Given the description of an element on the screen output the (x, y) to click on. 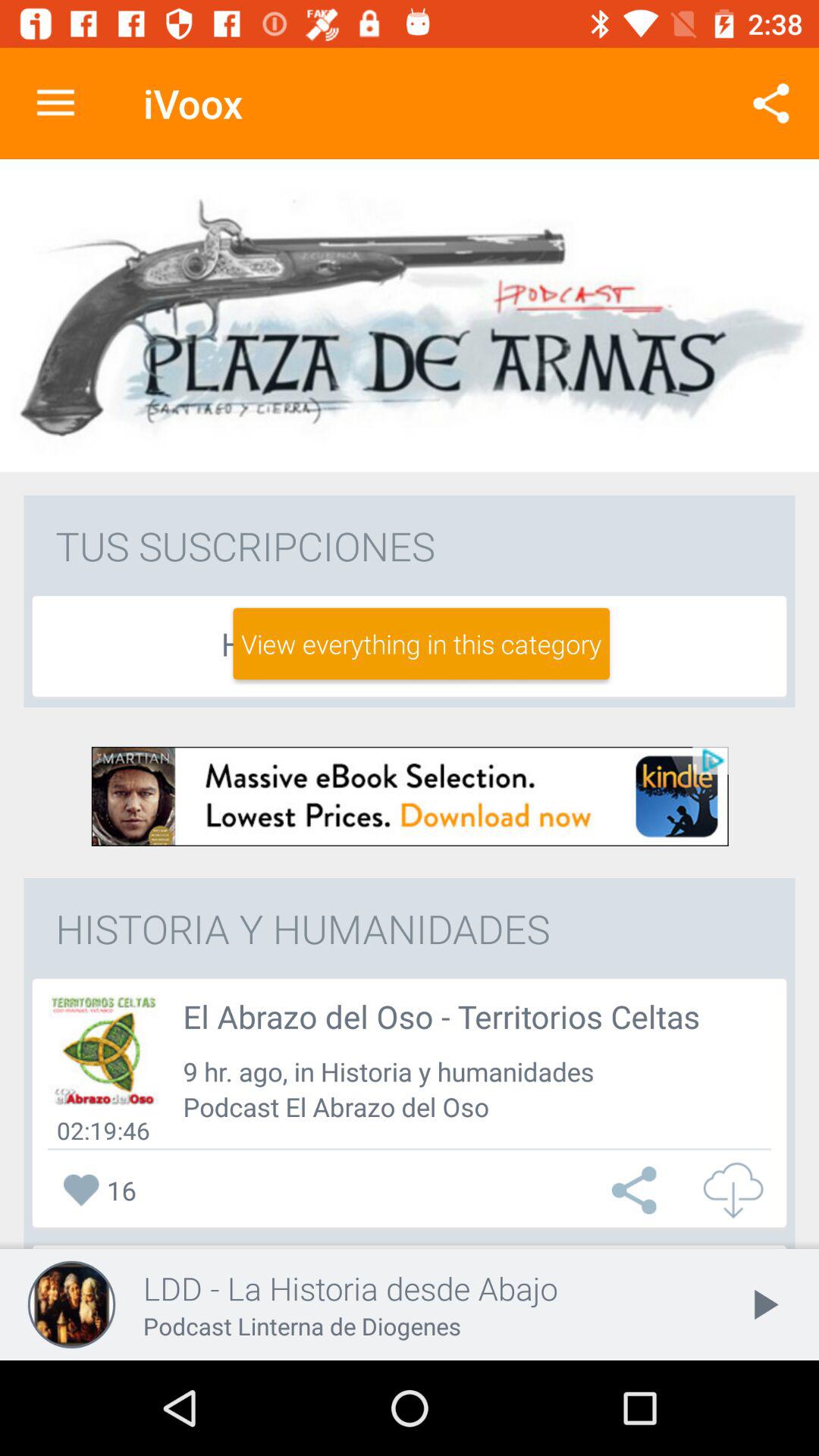
select podcast (103, 1050)
